Given the description of an element on the screen output the (x, y) to click on. 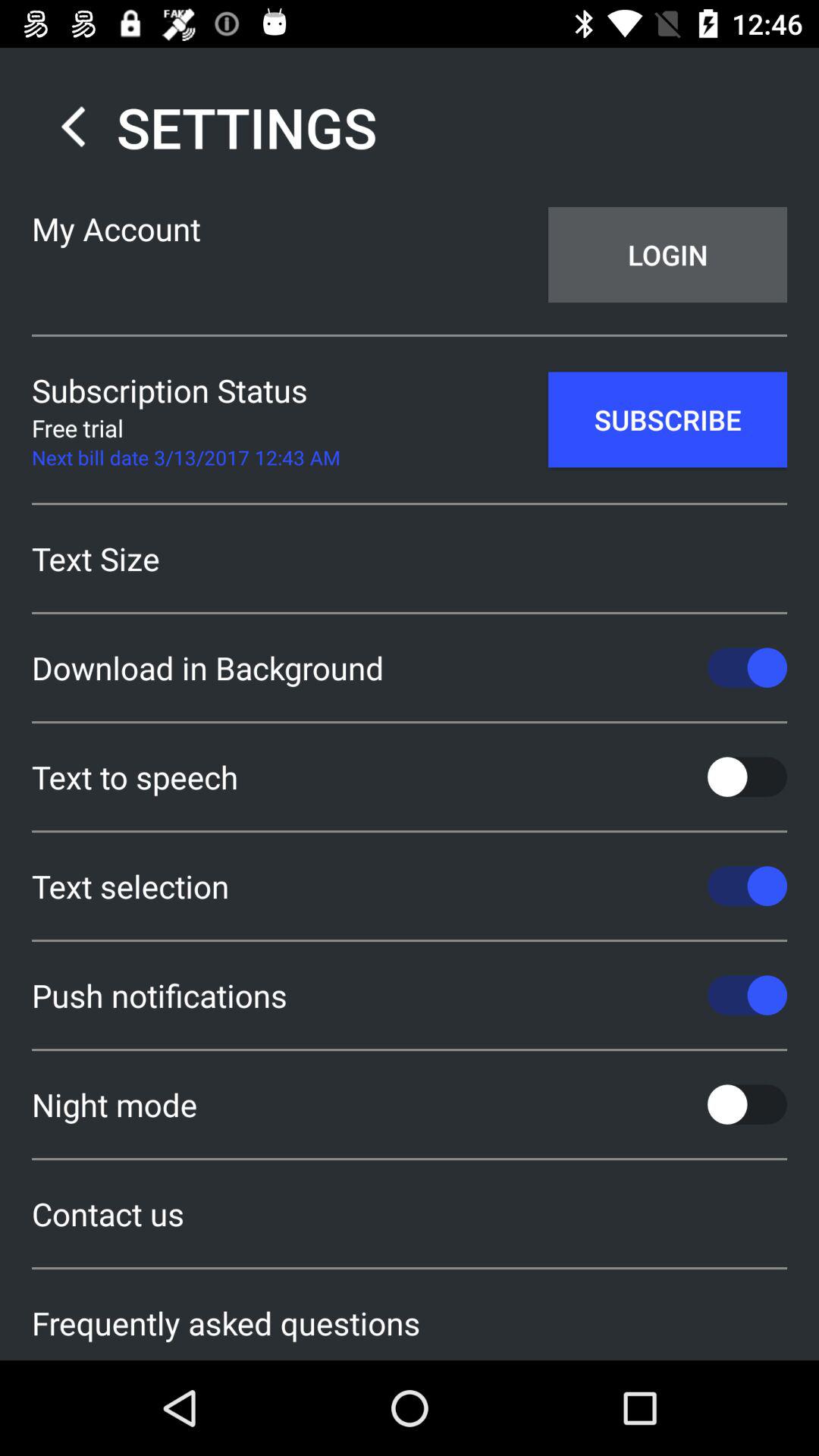
scroll until text to speech (409, 776)
